Given the description of an element on the screen output the (x, y) to click on. 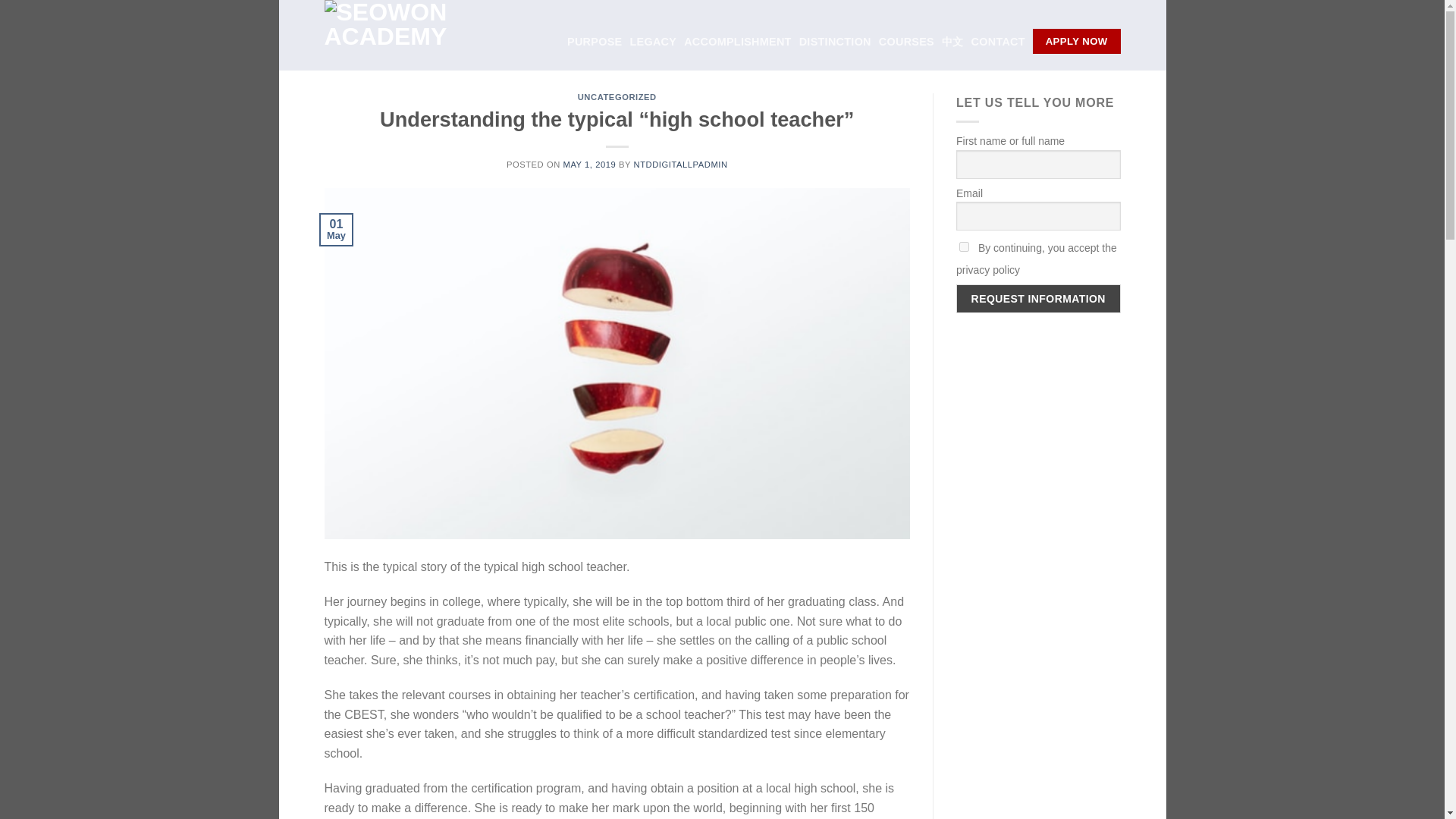
MAY 1, 2019 (588, 163)
NTDDIGITALLPADMIN (680, 163)
PURPOSE (594, 40)
UNCATEGORIZED (617, 96)
ACCOMPLISHMENT (738, 40)
DISTINCTION (834, 40)
LEGACY (652, 40)
SEOWON ACADEMY (395, 35)
